Given the description of an element on the screen output the (x, y) to click on. 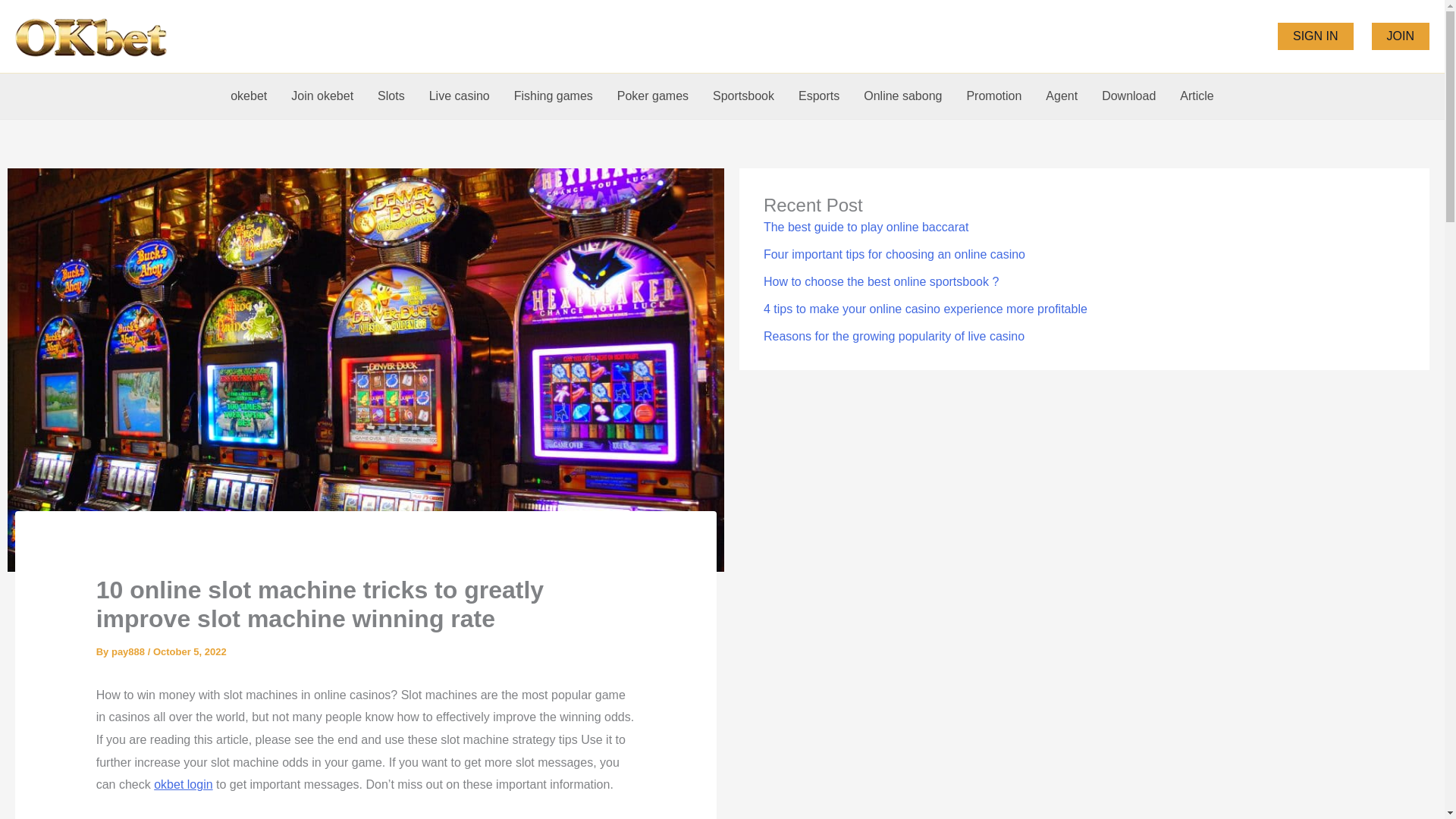
Four important tips for choosing an online casino (893, 254)
Article (1196, 95)
How to choose the best online sportsbook ? (880, 281)
View all posts by pay888 (130, 651)
Live casino (459, 95)
Esports (818, 95)
Fishing games (553, 95)
Promotion (993, 95)
Poker games (652, 95)
The best guide to play online baccarat (865, 226)
Download (1128, 95)
Agent (1061, 95)
pay888 (130, 651)
Slots (390, 95)
JOIN (1400, 35)
